Given the description of an element on the screen output the (x, y) to click on. 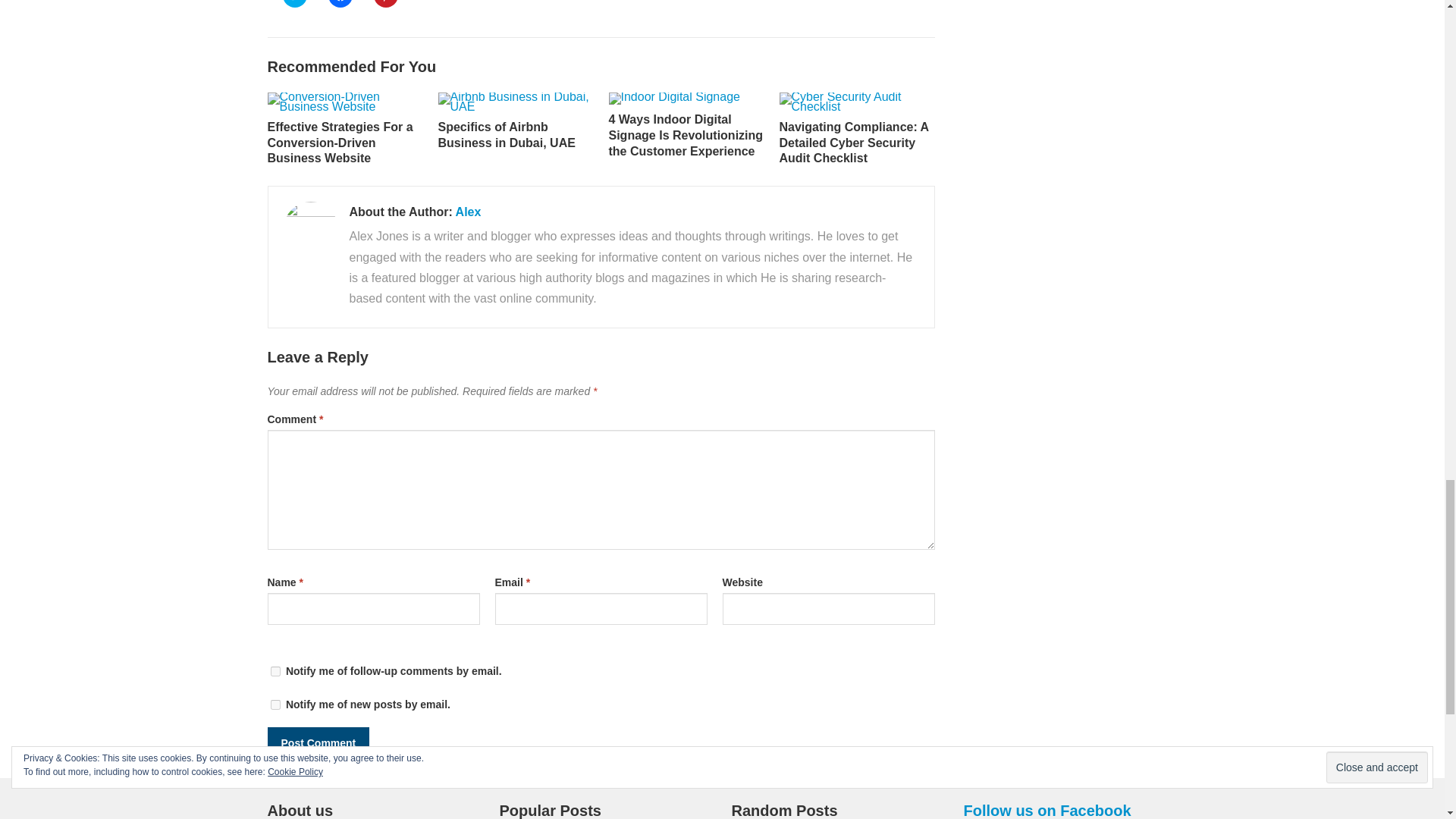
subscribe (274, 705)
Click to share on Facebook (339, 3)
Post Comment (317, 743)
subscribe (274, 671)
Click to share on Pinterest (384, 3)
Click to share on Twitter (293, 3)
